Given the description of an element on the screen output the (x, y) to click on. 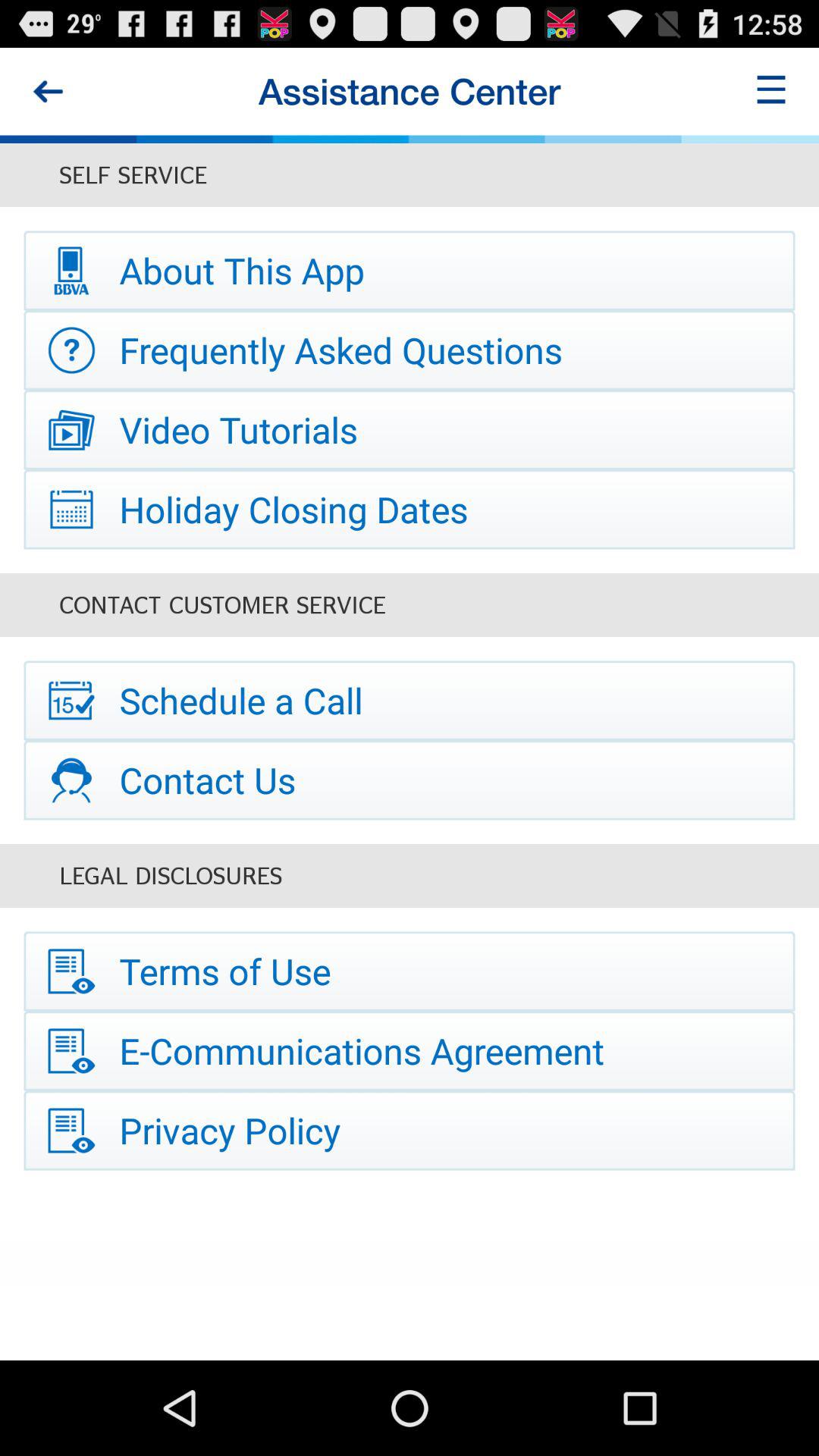
go to main menu (771, 91)
